Given the description of an element on the screen output the (x, y) to click on. 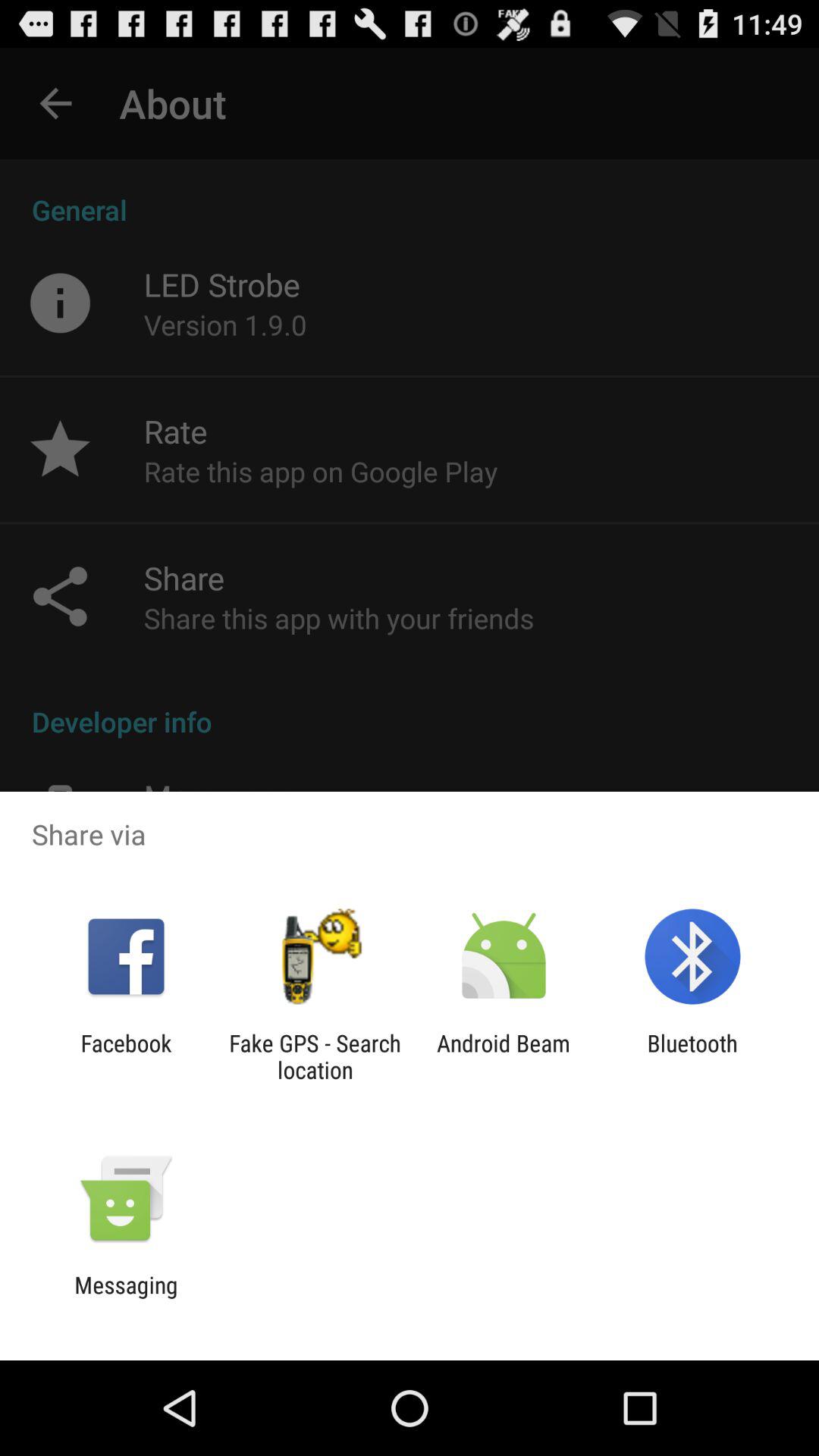
press the messaging icon (126, 1298)
